Given the description of an element on the screen output the (x, y) to click on. 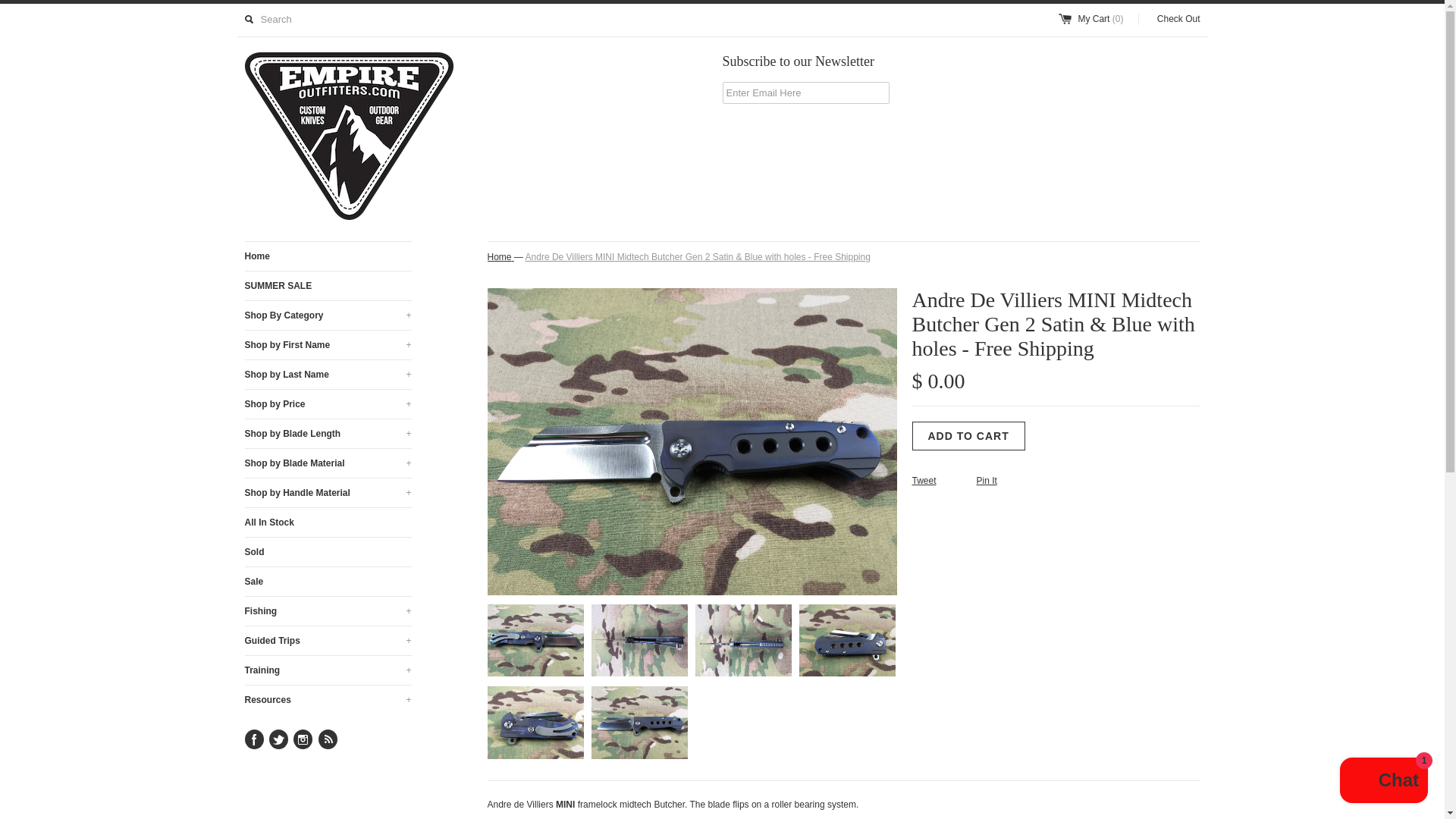
Home (327, 256)
Add To Cart (968, 435)
SUMMER SALE (327, 285)
Shopify online store chat (1383, 781)
Subscribe (764, 130)
Check Out (1170, 19)
